Given the description of an element on the screen output the (x, y) to click on. 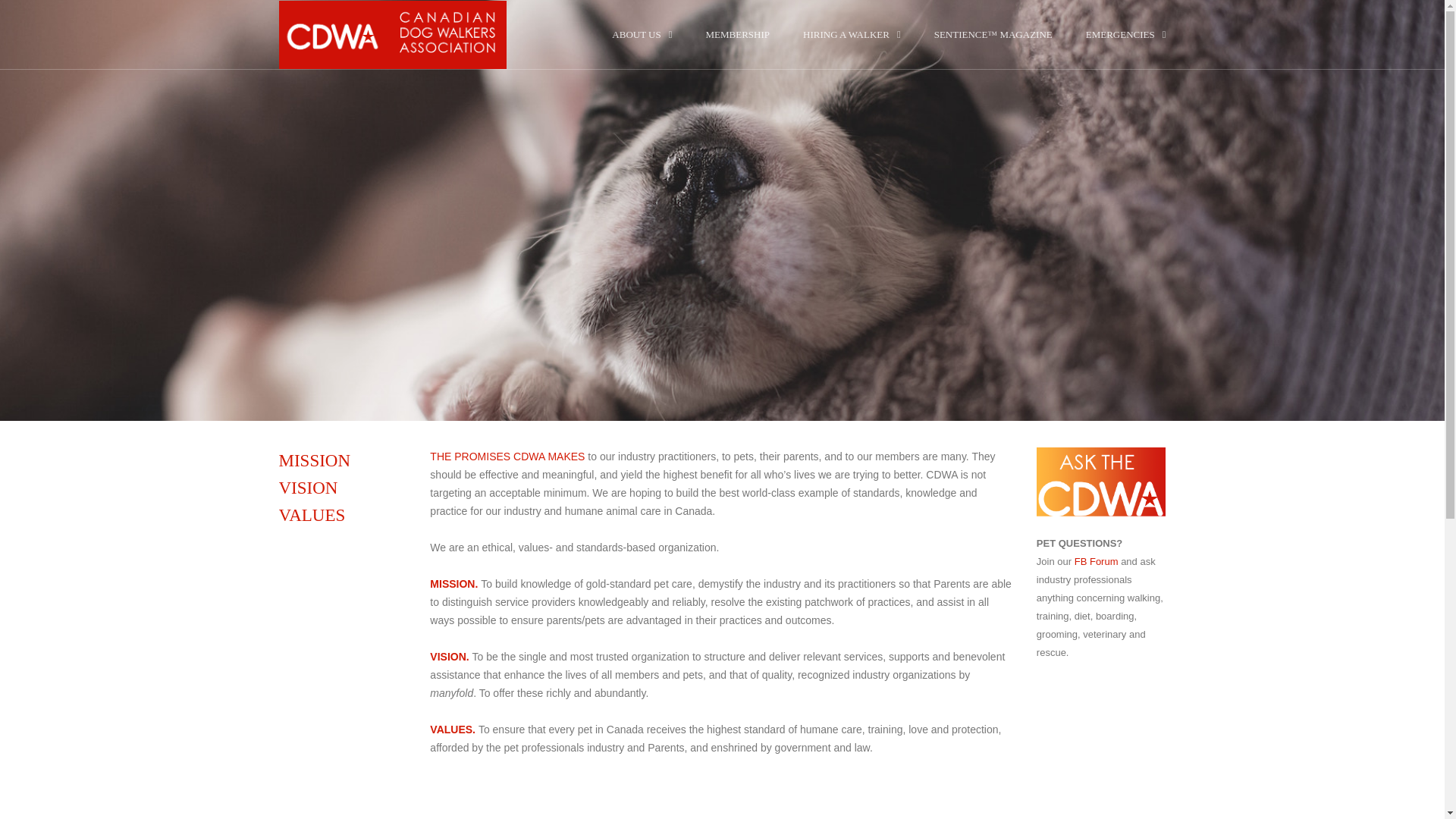
Canadian Dog Walkers Association (392, 34)
FB Forum (1096, 561)
EMERGENCIES (1126, 33)
HIRING A WALKER (852, 33)
MEMBERSHIP (737, 33)
